Given the description of an element on the screen output the (x, y) to click on. 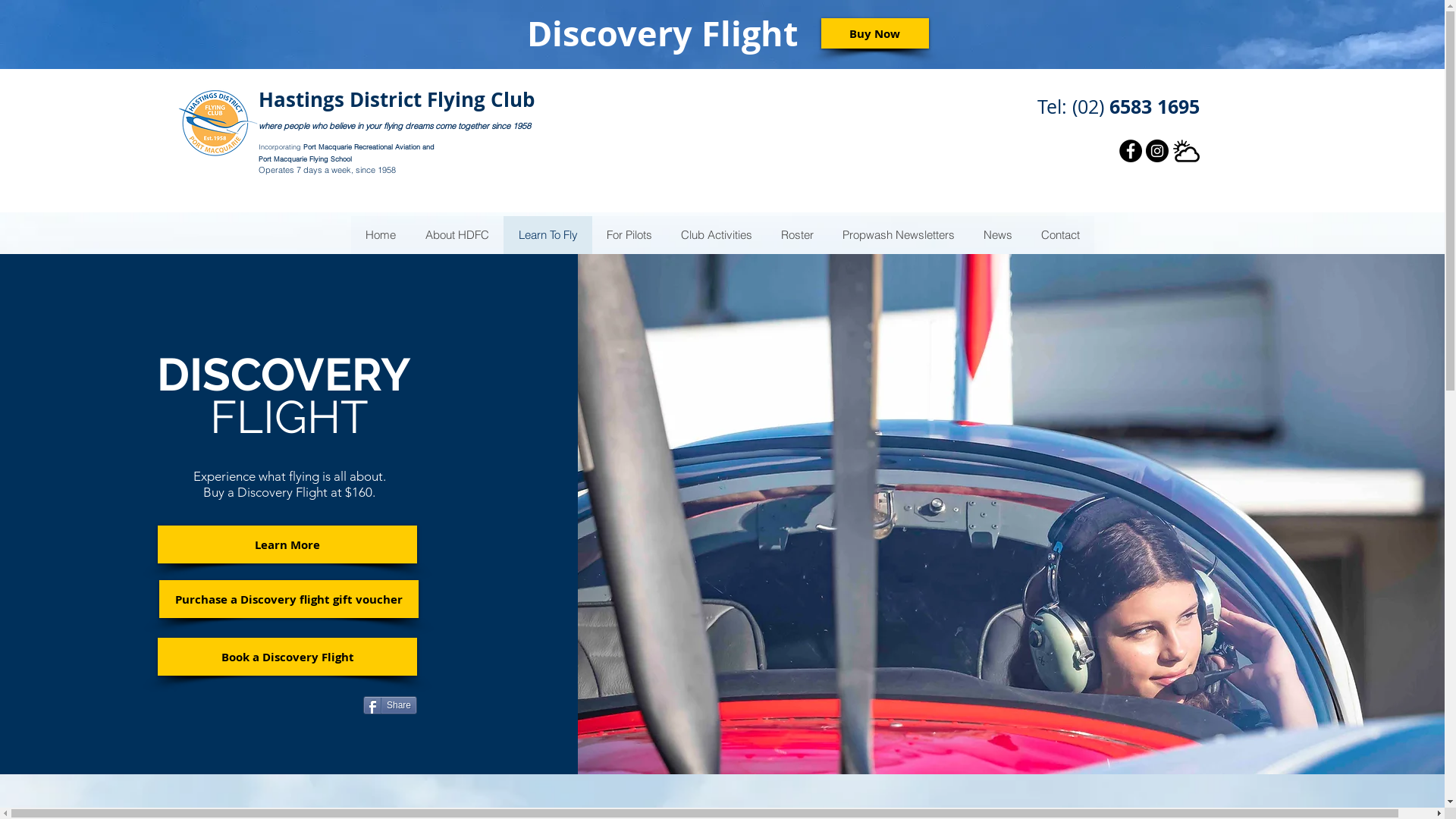
Learn More Element type: text (287, 544)
Buy Now Element type: text (874, 33)
For Pilots Element type: text (628, 235)
Propwash Newsletters Element type: text (898, 235)
News Element type: text (997, 235)
Hastings District Flying Club Element type: text (396, 99)
Learn To Fly Element type: text (547, 235)
Book a Discovery Flight Element type: text (287, 656)
Share Element type: text (390, 705)
Club Activities Element type: text (715, 235)
Contact Element type: text (1060, 235)
Home Element type: text (379, 235)
Purchase a Discovery flight gift voucher Element type: text (288, 599)
Tel: (02) 6583 1695 Element type: text (1118, 106)
About HDFC Element type: text (455, 235)
